Given the description of an element on the screen output the (x, y) to click on. 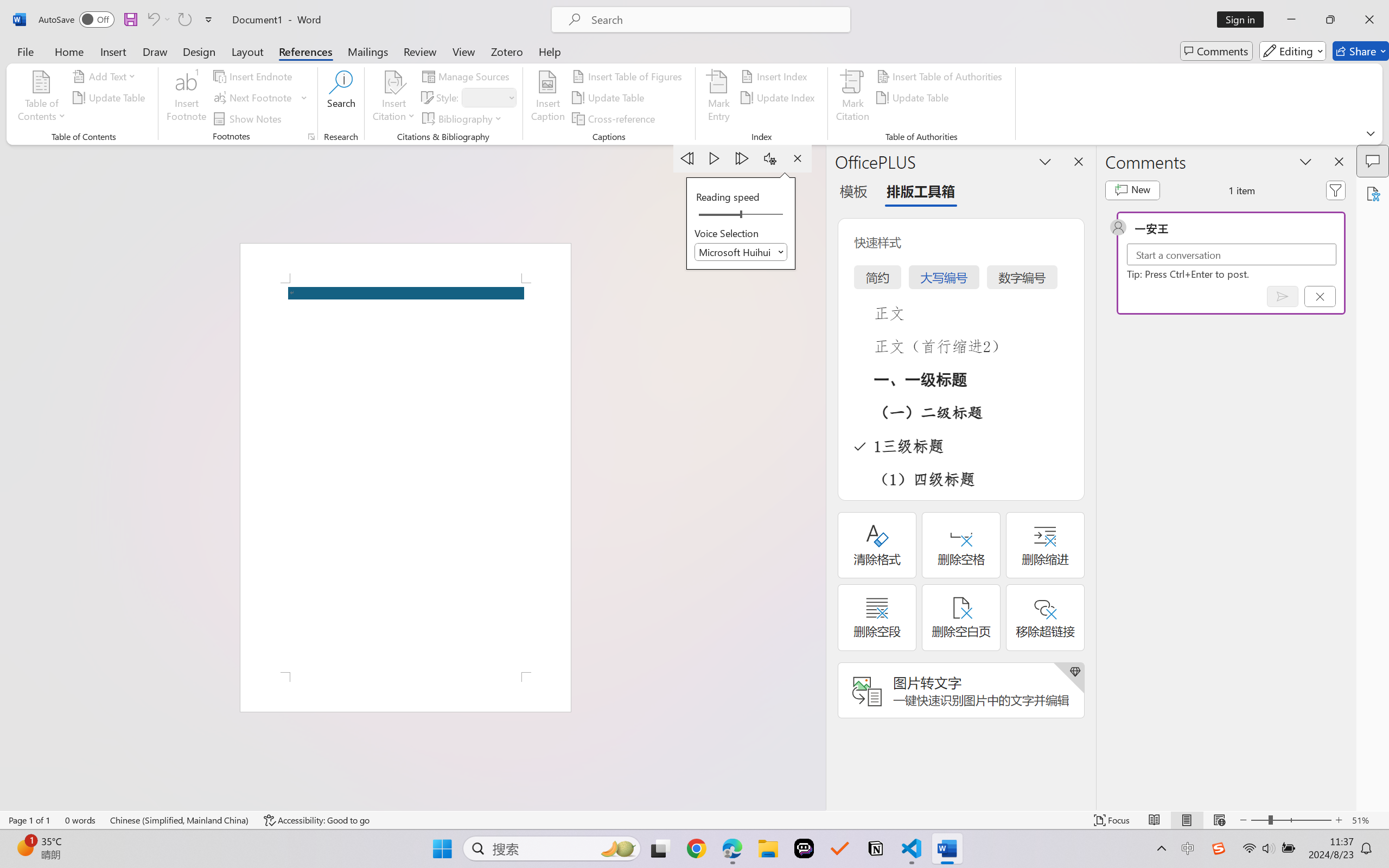
Start a conversation (1231, 254)
Insert Footnote (186, 97)
Update Table (914, 97)
